Given the description of an element on the screen output the (x, y) to click on. 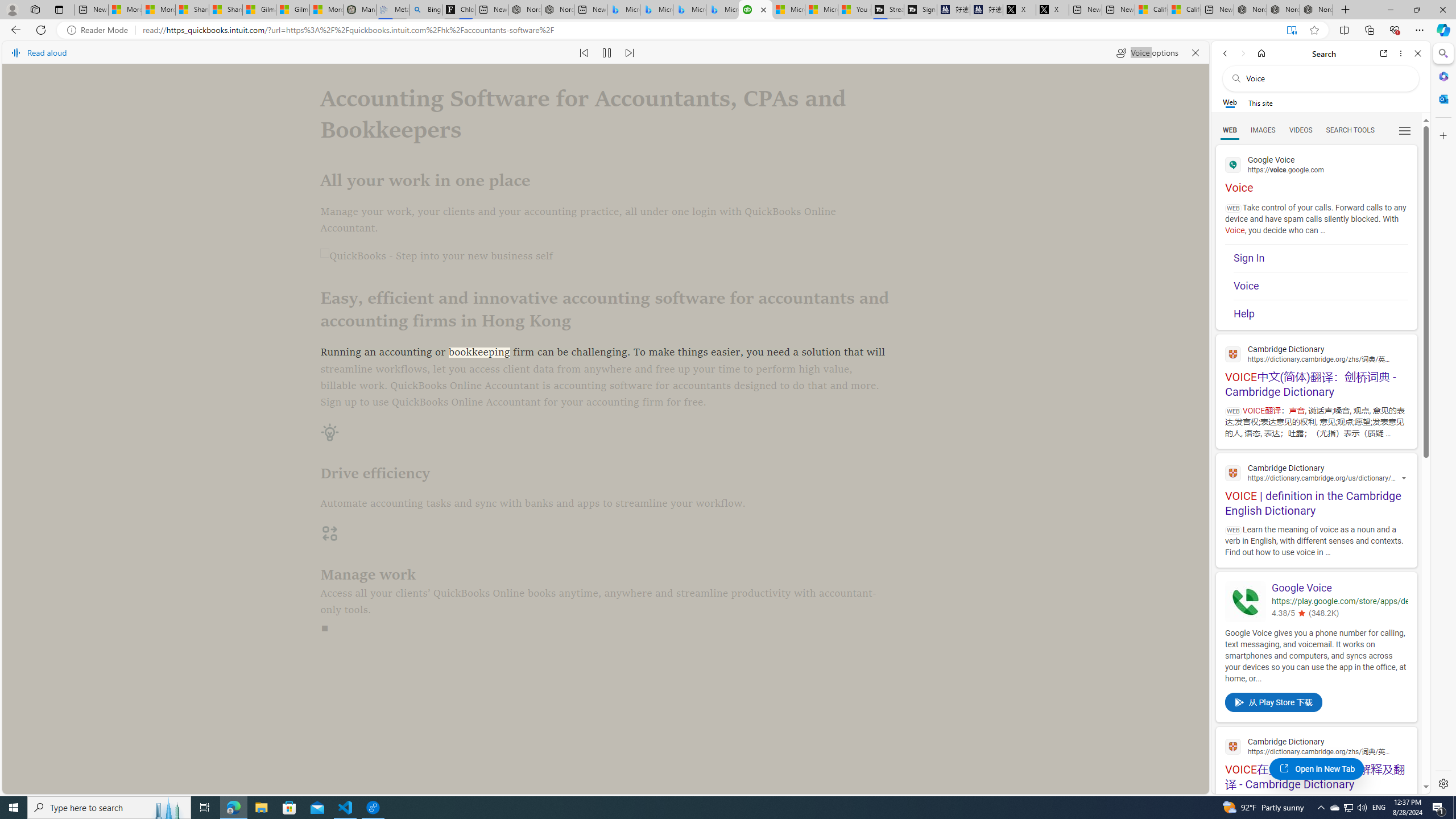
Cambridge Dictionary (1315, 745)
Sign In (1320, 258)
SEARCH TOOLS (1350, 130)
Close read aloud (1195, 52)
Address and search bar (709, 29)
Search the web (1326, 78)
4.380543231964111 (1300, 613)
Global web icon (1232, 746)
Search Filter, Search Tools (1350, 129)
Forward (1242, 53)
This site scope (1259, 102)
